Given the description of an element on the screen output the (x, y) to click on. 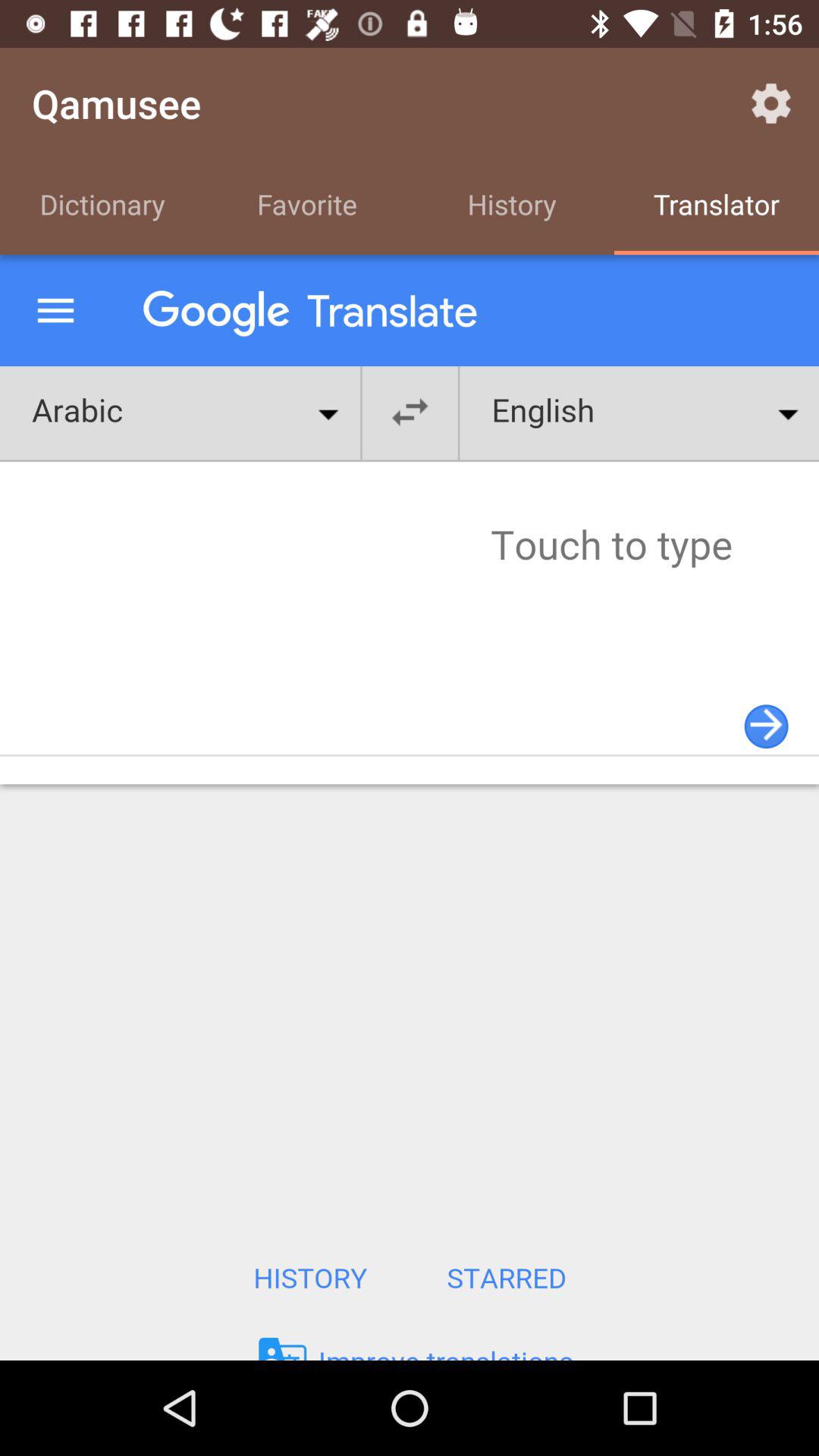
google page (409, 807)
